Given the description of an element on the screen output the (x, y) to click on. 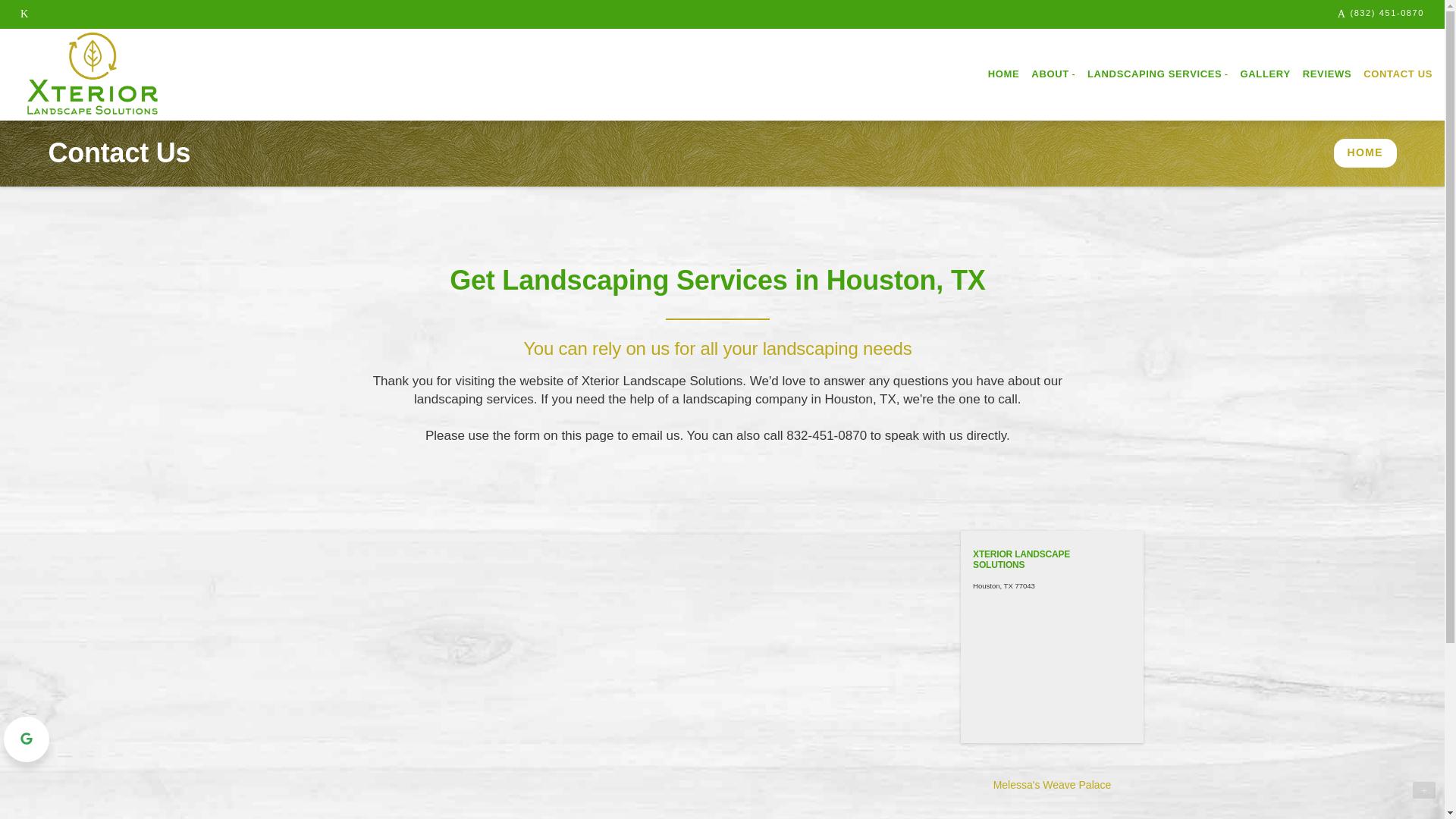
LANDSCAPING SERVICES (1157, 74)
CONTACT US (1397, 73)
Melessa's Weave Palace (1052, 784)
Facebook (23, 13)
ABOUT (1053, 74)
HOME (1003, 73)
GALLERY (1265, 73)
Xterior Landscape Solutions (92, 74)
REVIEWS (1327, 73)
